Given the description of an element on the screen output the (x, y) to click on. 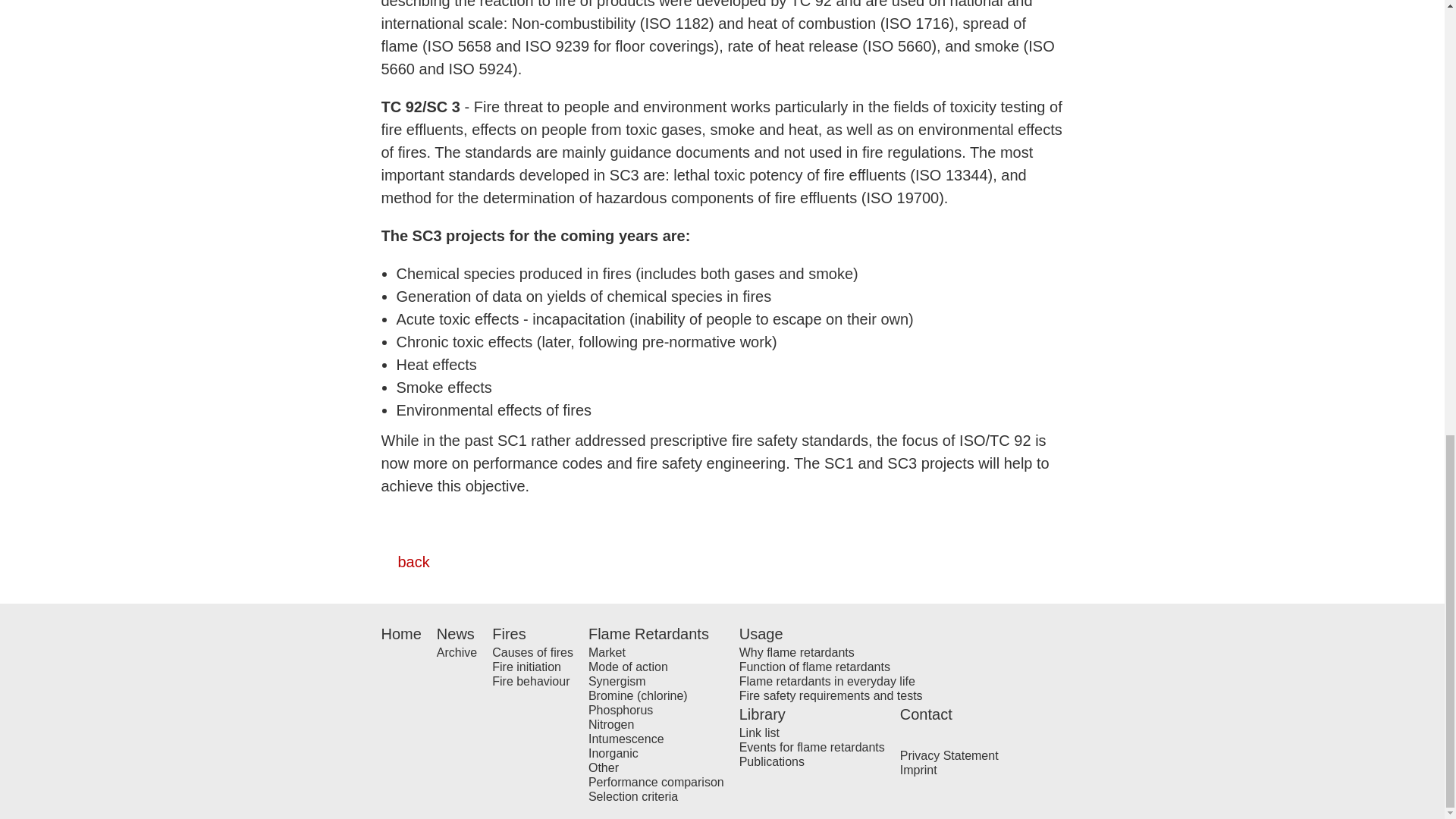
back (404, 561)
